Given the description of an element on the screen output the (x, y) to click on. 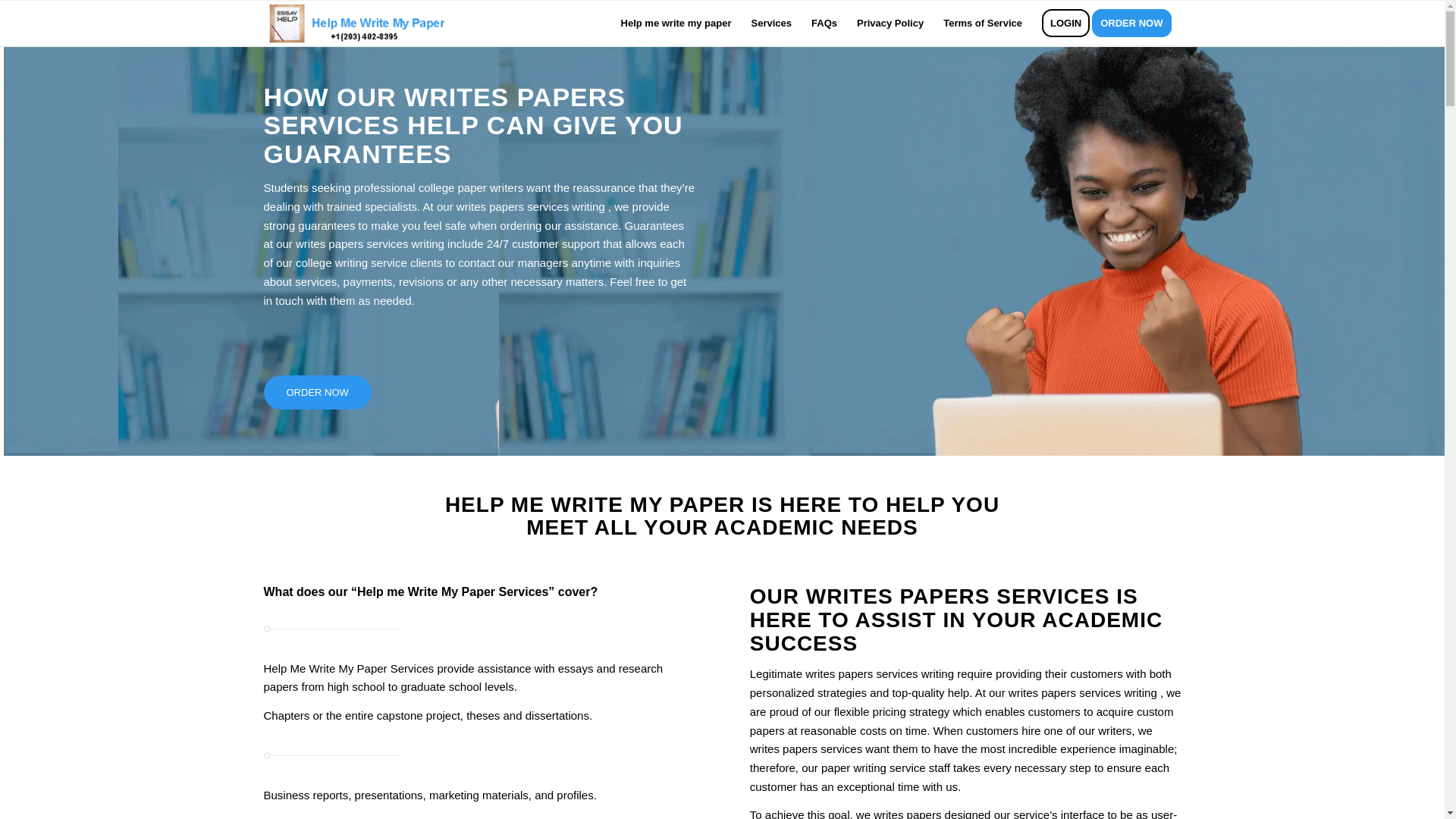
ORDER NOW (317, 392)
FAQs (824, 22)
Privacy Policy (890, 22)
LOGIN (1065, 22)
Help me write my paper (676, 22)
Services (771, 22)
ORDER NOW (1136, 22)
Terms of Service (982, 22)
